Given the description of an element on the screen output the (x, y) to click on. 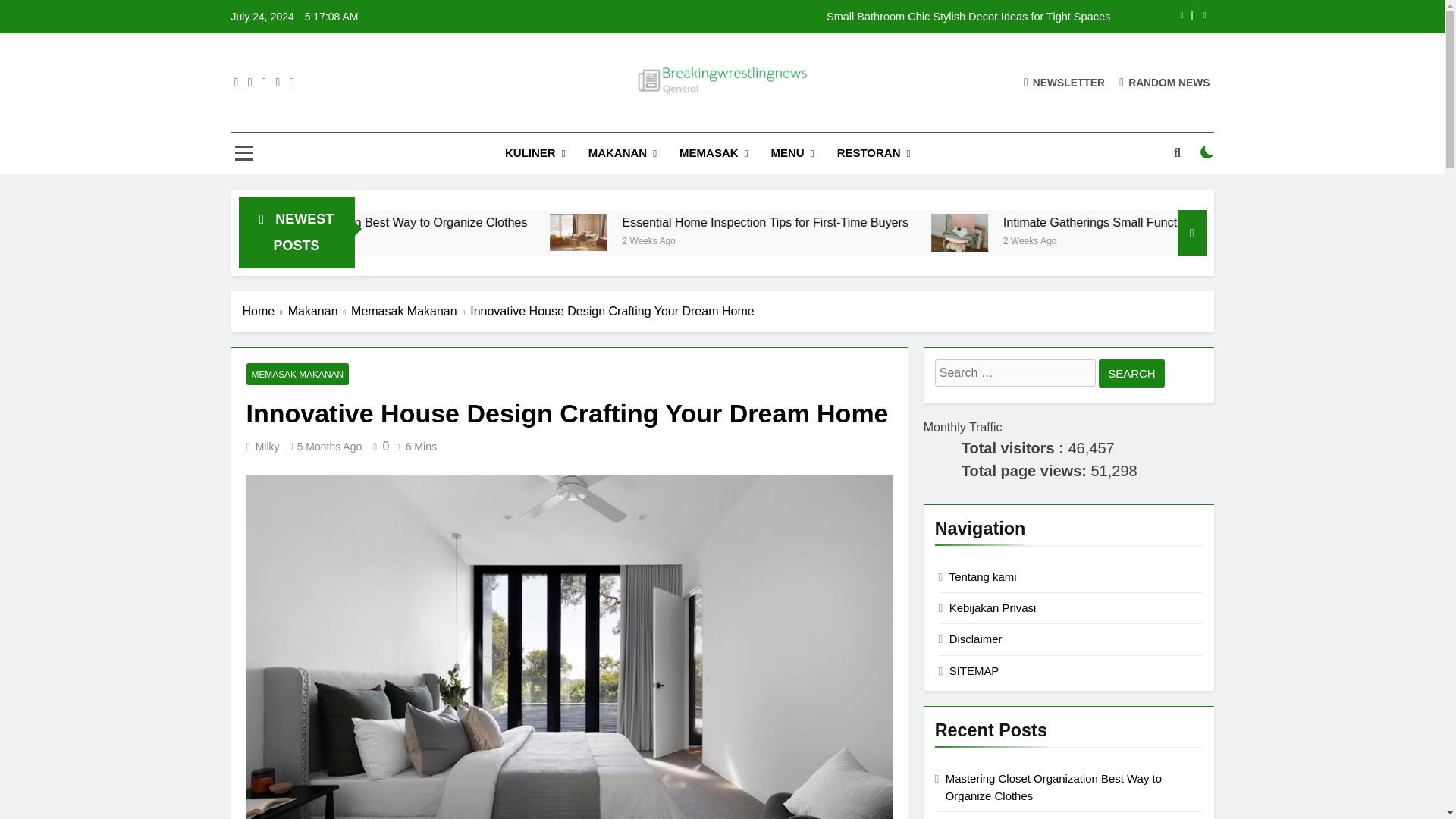
Small Bathroom Chic Stylish Decor Ideas for Tight Spaces (817, 16)
Search (1131, 373)
Small Bathroom Chic Stylish Decor Ideas for Tight Spaces (817, 16)
Mastering Closet Organization Best Way to Organize Clothes (506, 222)
BREAKINGWRESTLINGNEWS (728, 118)
NEWSLETTER (1064, 82)
RANDOM NEWS (1164, 82)
MEMASAK (713, 153)
Search (1131, 373)
Essential Home Inspection Tips for First-Time Buyers (719, 232)
Essential Home Inspection Tips for First-Time Buyers (903, 222)
Essential Home Inspection Tips for First-Time Buyers (721, 232)
KULINER (534, 153)
on (1206, 151)
MAKANAN (622, 153)
